Given the description of an element on the screen output the (x, y) to click on. 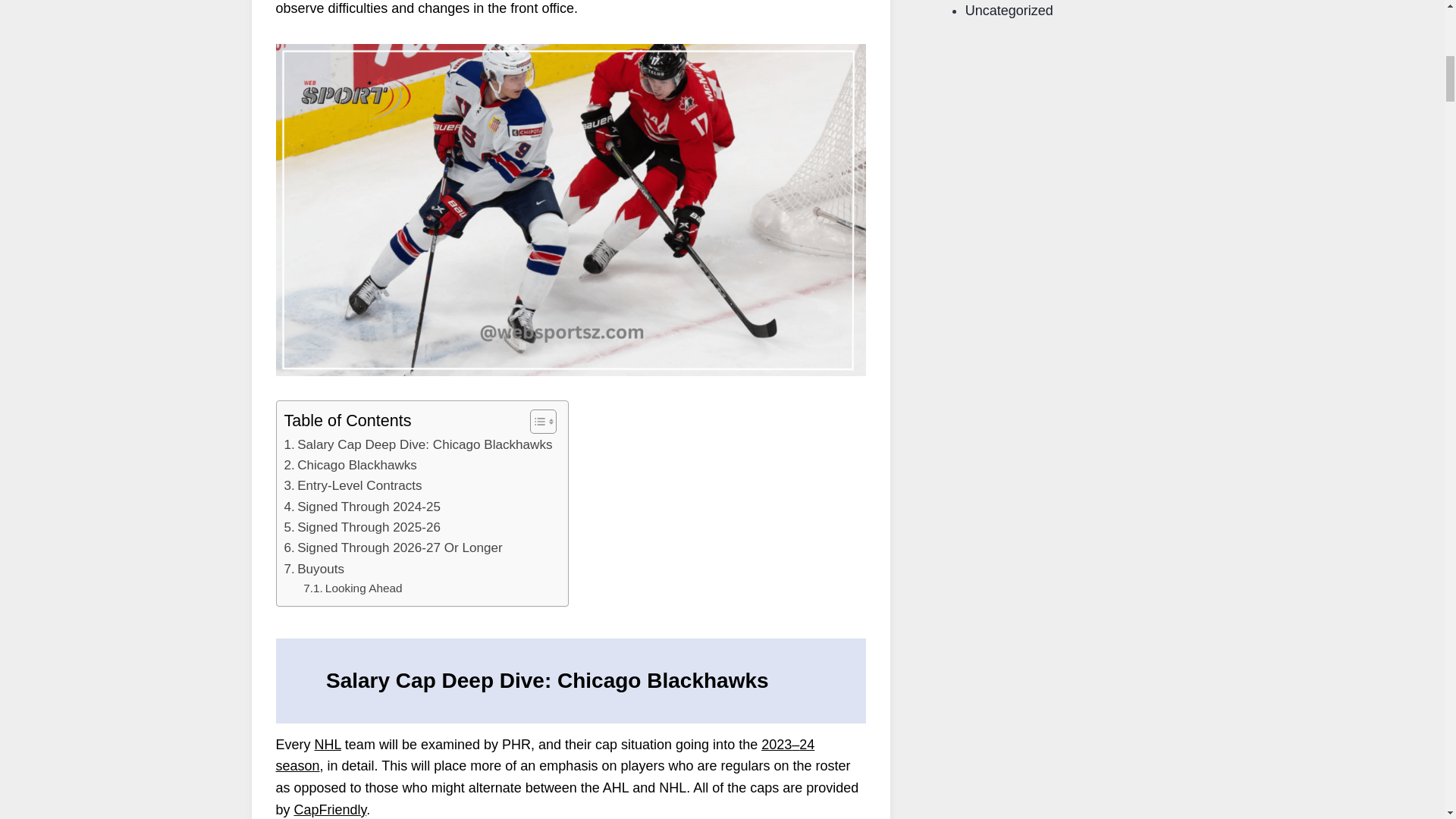
Signed Through 2026-27 Or Longer (392, 547)
CapFriendly (330, 809)
NHL (327, 744)
Signed Through 2024-25 (362, 506)
Salary Cap Deep Dive: Chicago Blackhawks (417, 444)
Signed Through 2024-25 (362, 506)
Chicago Blackhawks (349, 465)
Entry-Level Contracts (352, 485)
Signed Through 2025-26 (362, 526)
Entry-Level Contracts (352, 485)
